Given the description of an element on the screen output the (x, y) to click on. 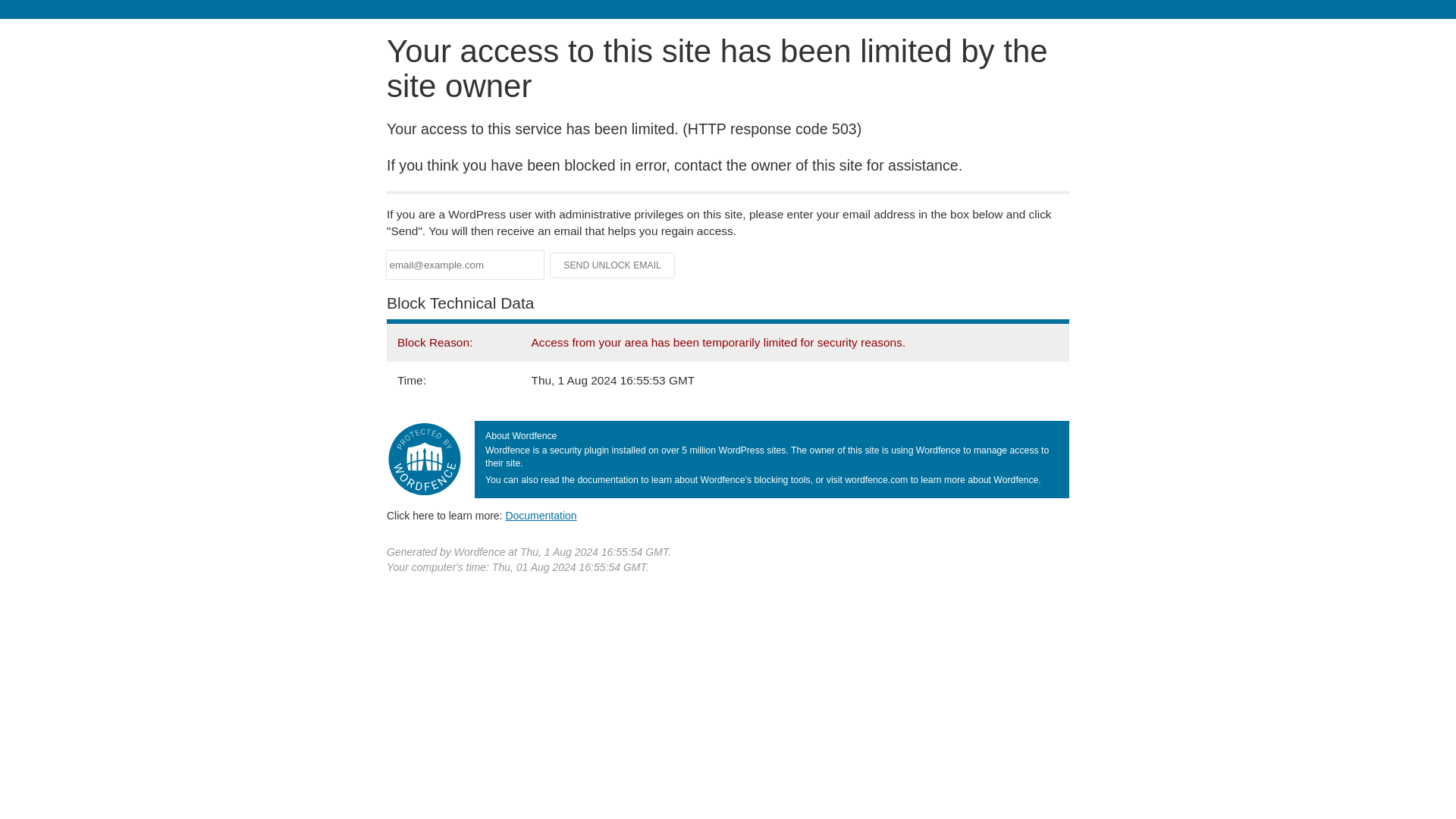
Send Unlock Email (612, 265)
Documentation (540, 515)
Send Unlock Email (612, 265)
